Given the description of an element on the screen output the (x, y) to click on. 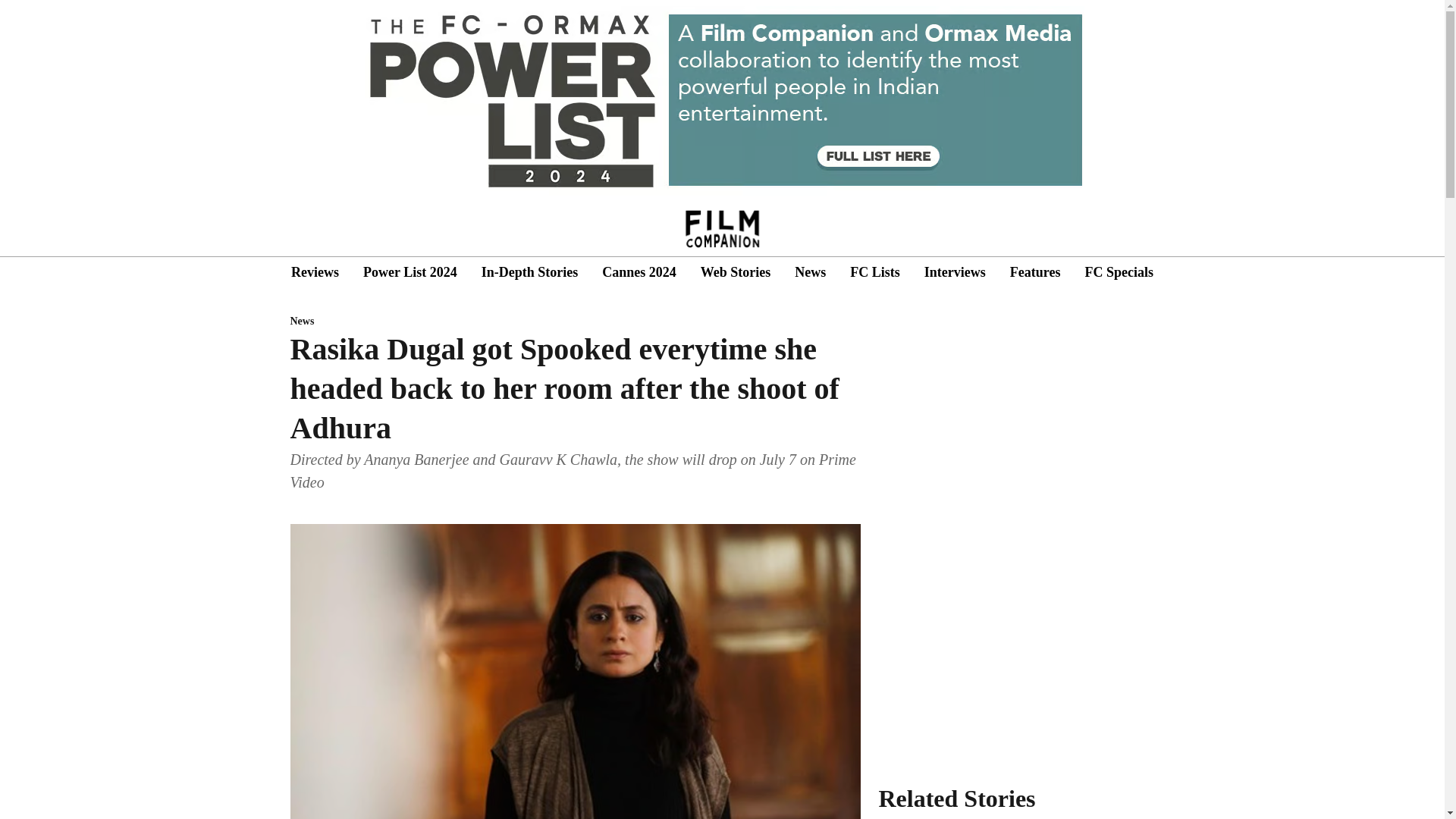
Web Stories (735, 272)
In-Depth Stories (529, 272)
Cannes 2024 (639, 272)
FC Lists (874, 272)
News (809, 272)
Reviews (315, 272)
Features (1035, 272)
Power List 2024 (409, 272)
Interviews (954, 272)
